Given the description of an element on the screen output the (x, y) to click on. 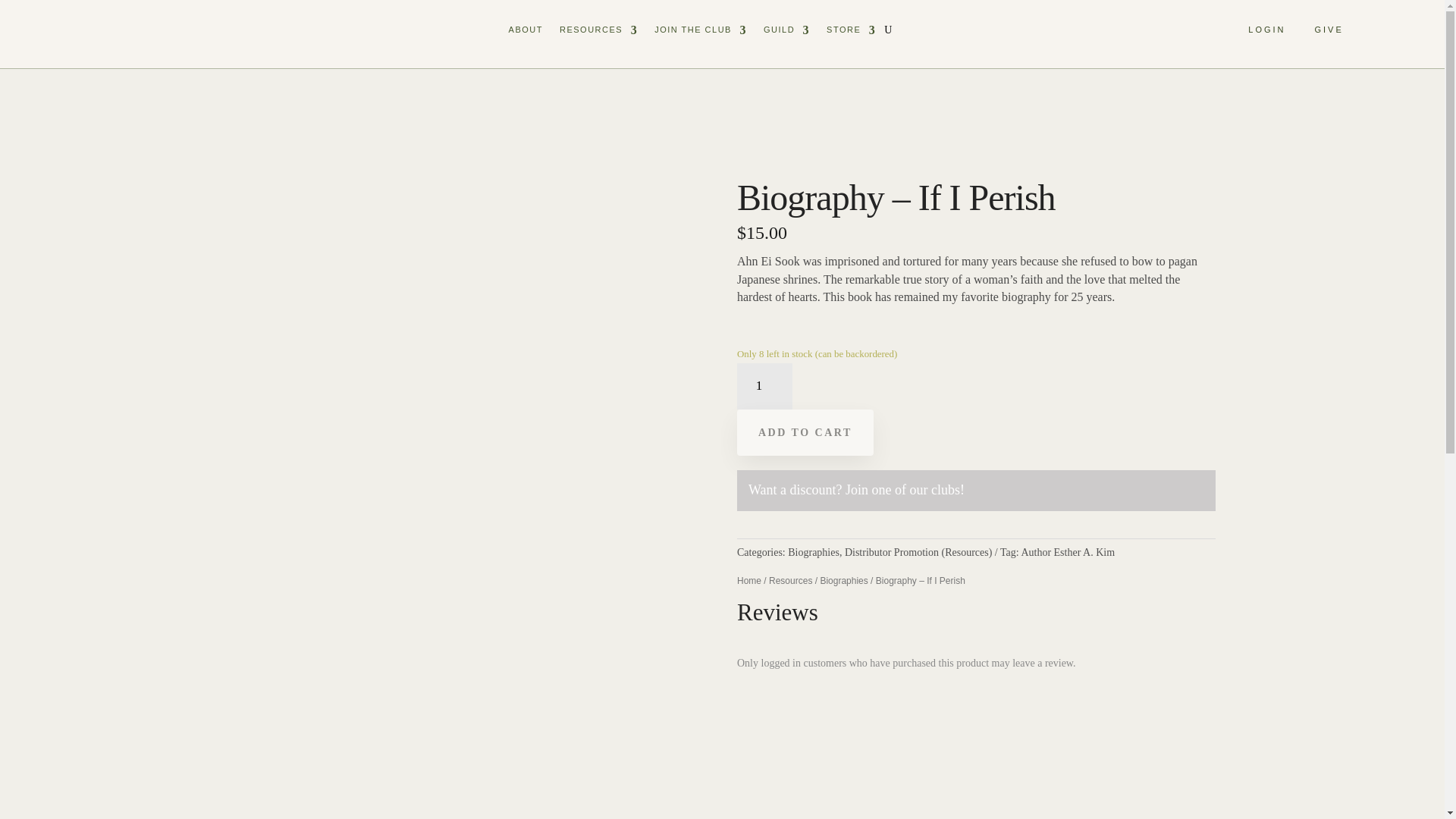
1 (764, 386)
JOIN THE CLUB (699, 30)
GIVE (1328, 29)
Author Esther A. Kim (1067, 552)
Biographies (843, 580)
ADD TO CART (804, 432)
Resources (790, 580)
Want a discount? Join one of our clubs! (855, 489)
LOGIN (1266, 29)
RESOURCES (598, 30)
Biographies (813, 552)
Home (748, 580)
